Given the description of an element on the screen output the (x, y) to click on. 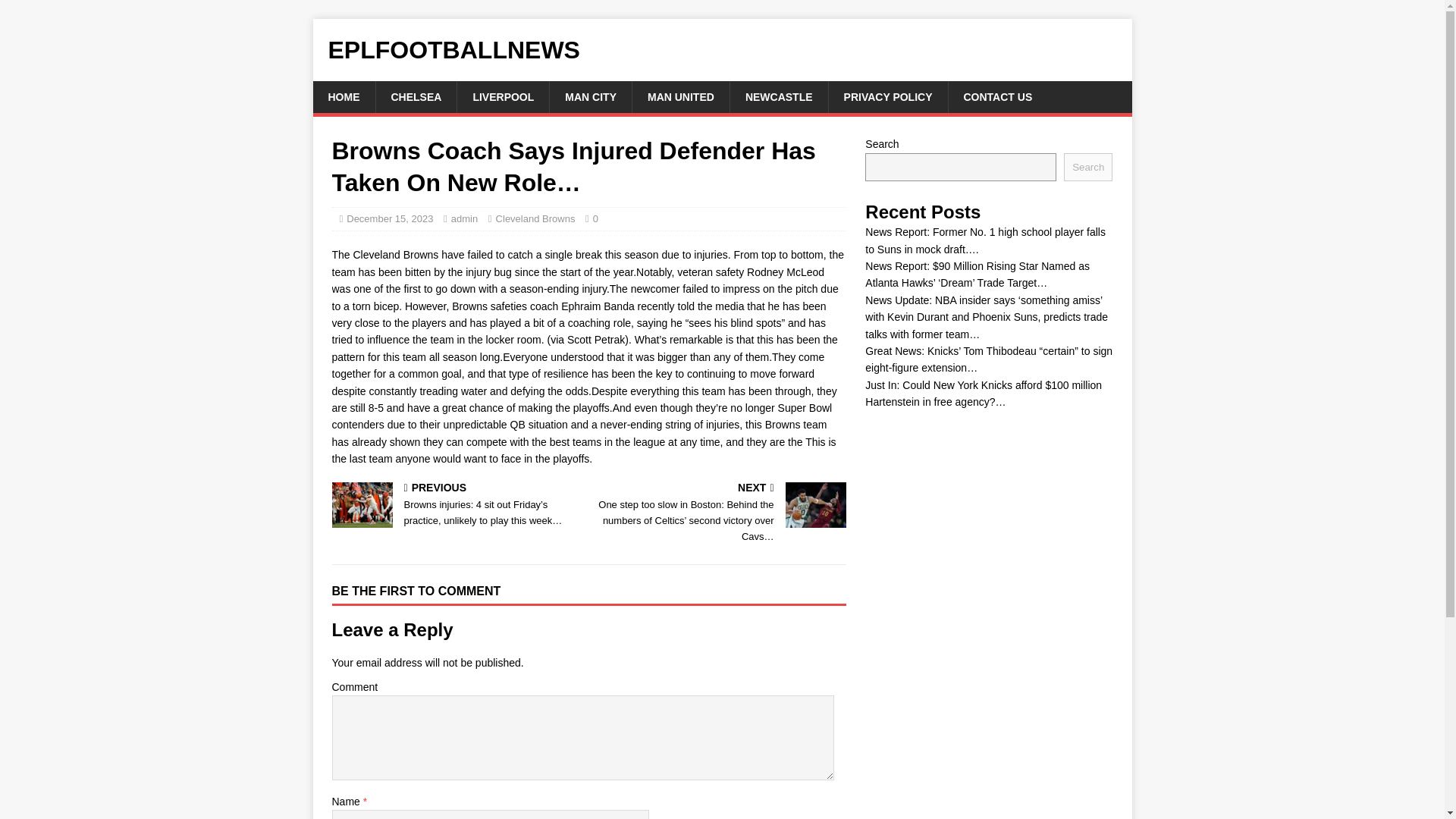
HOME (343, 97)
EPLfootballNews (721, 49)
December 15, 2023 (389, 218)
Search (1088, 166)
MAN CITY (589, 97)
CHELSEA (415, 97)
MAN UNITED (680, 97)
EPLFOOTBALLNEWS (721, 49)
PRIVACY POLICY (887, 97)
CONTACT US (997, 97)
admin (464, 218)
Cleveland Browns (535, 218)
LIVERPOOL (502, 97)
NEWCASTLE (778, 97)
